Given the description of an element on the screen output the (x, y) to click on. 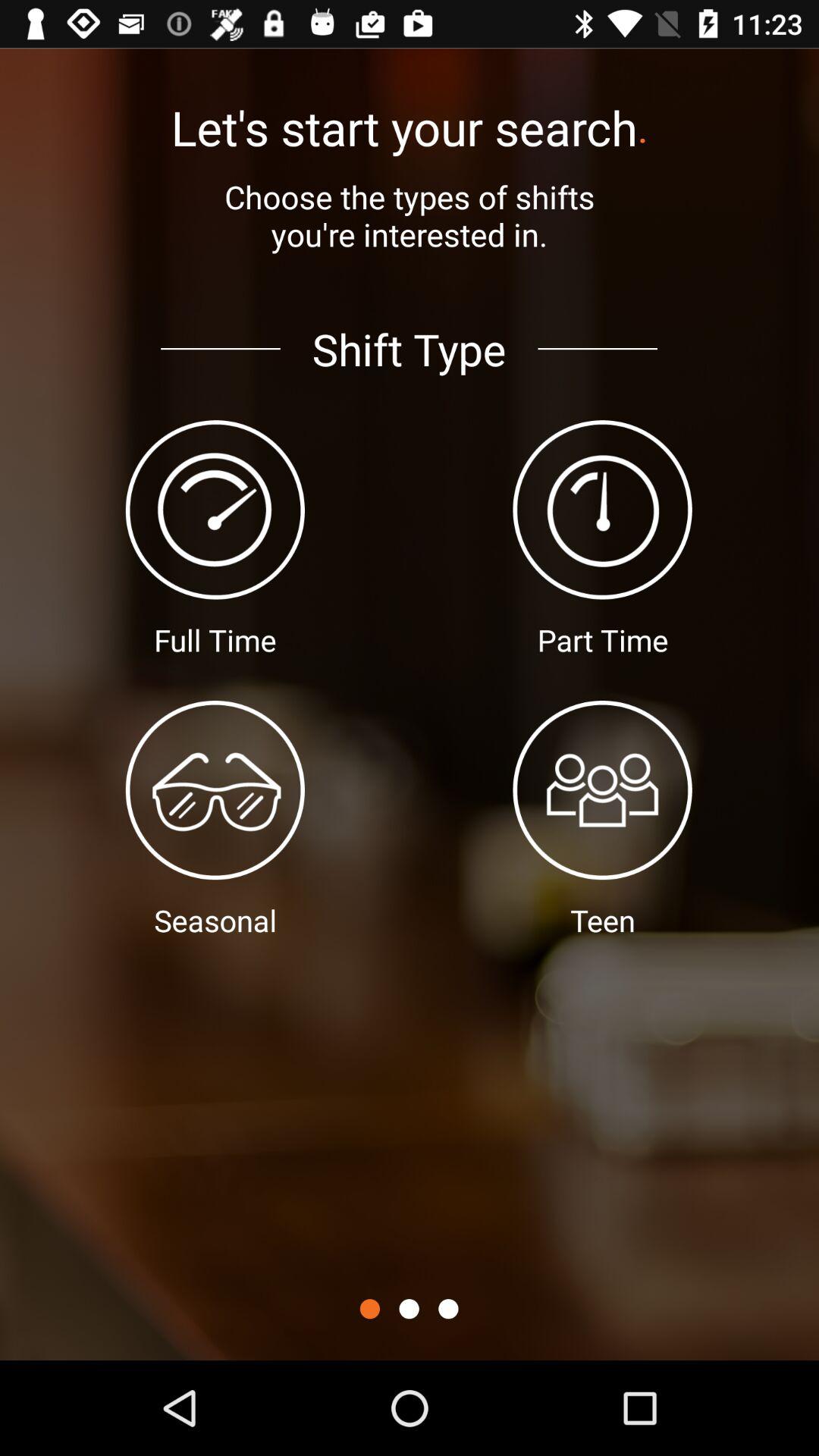
show next button (448, 1308)
